Given the description of an element on the screen output the (x, y) to click on. 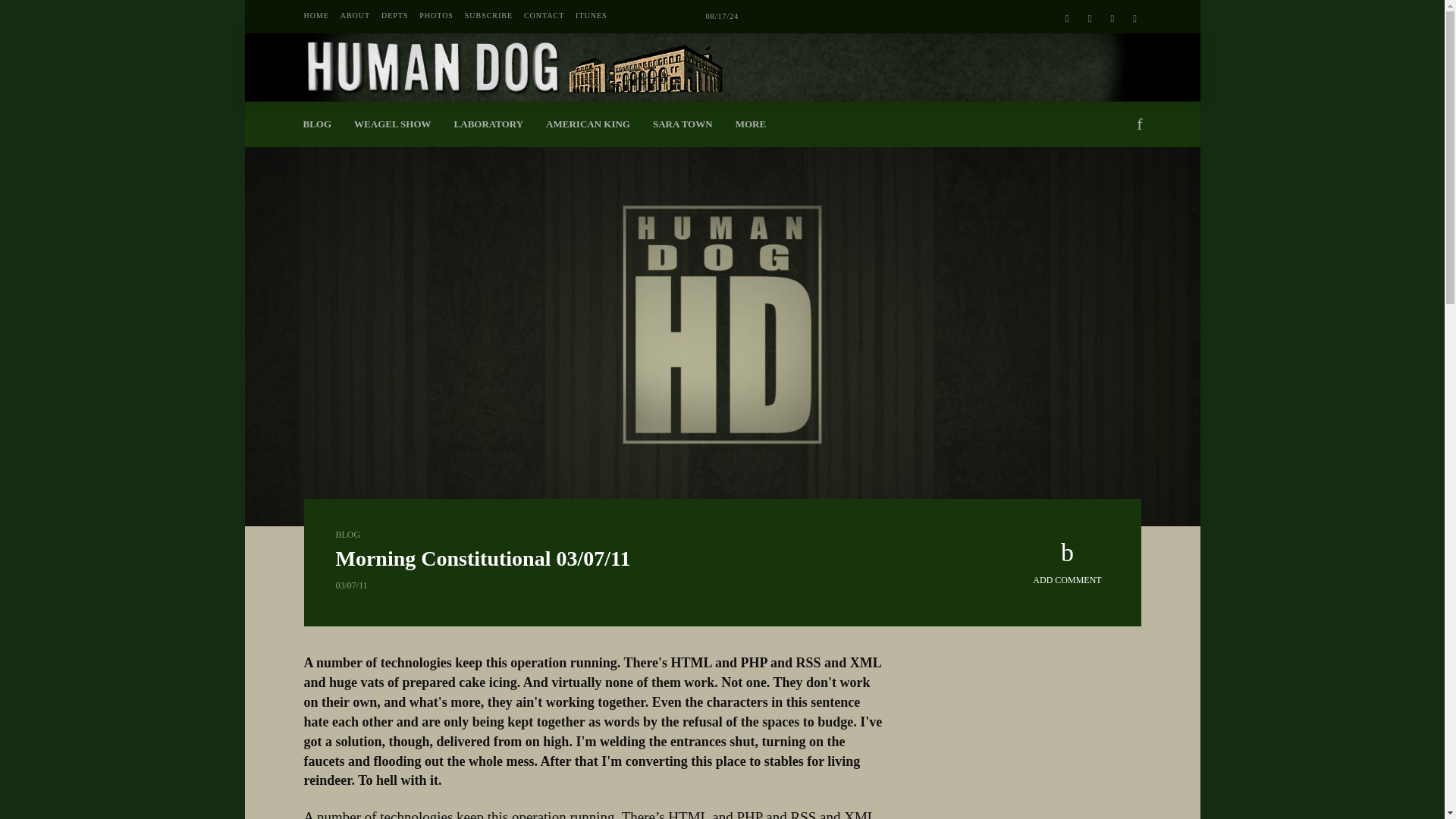
AMERICAN KING (588, 124)
MORE (750, 124)
ITUNES (591, 15)
ABOUT (354, 15)
BLOG (316, 124)
WEAGEL SHOW (392, 124)
SUBSCRIBE (488, 15)
LABORATORY (488, 124)
CONTACT (544, 15)
SARA TOWN (682, 124)
